Given the description of an element on the screen output the (x, y) to click on. 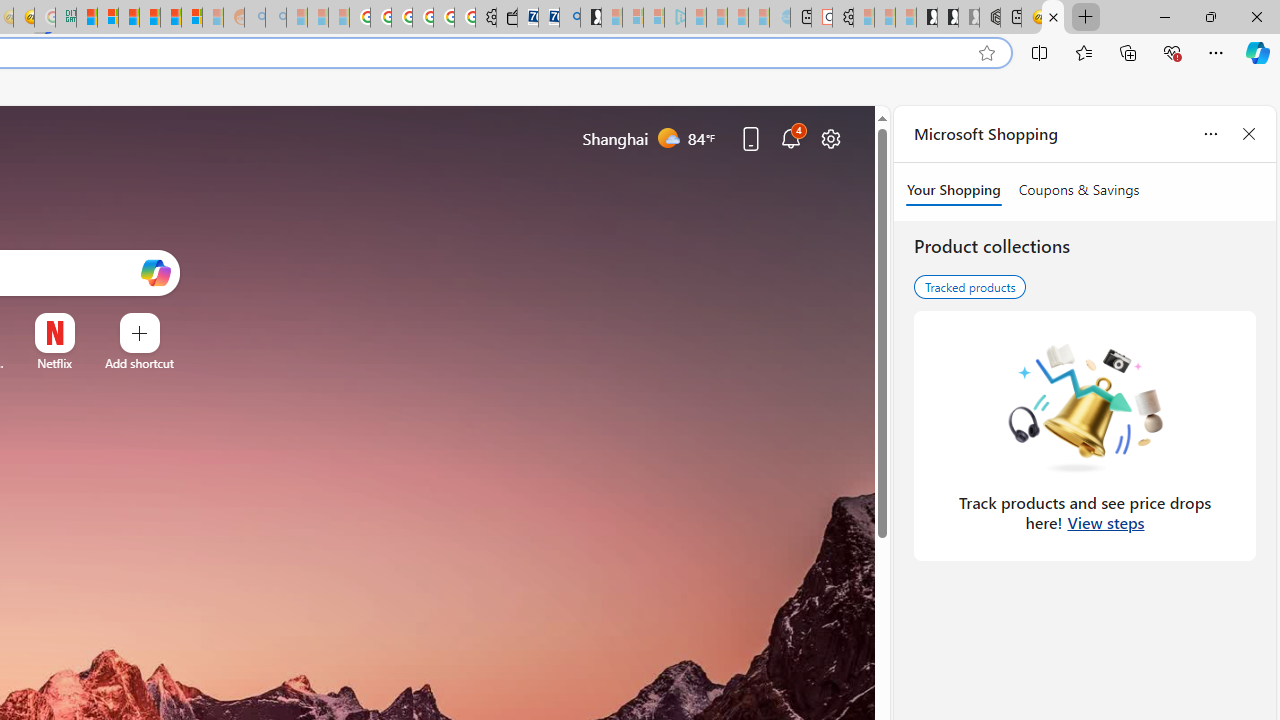
Mostly sunny (667, 137)
